Given the description of an element on the screen output the (x, y) to click on. 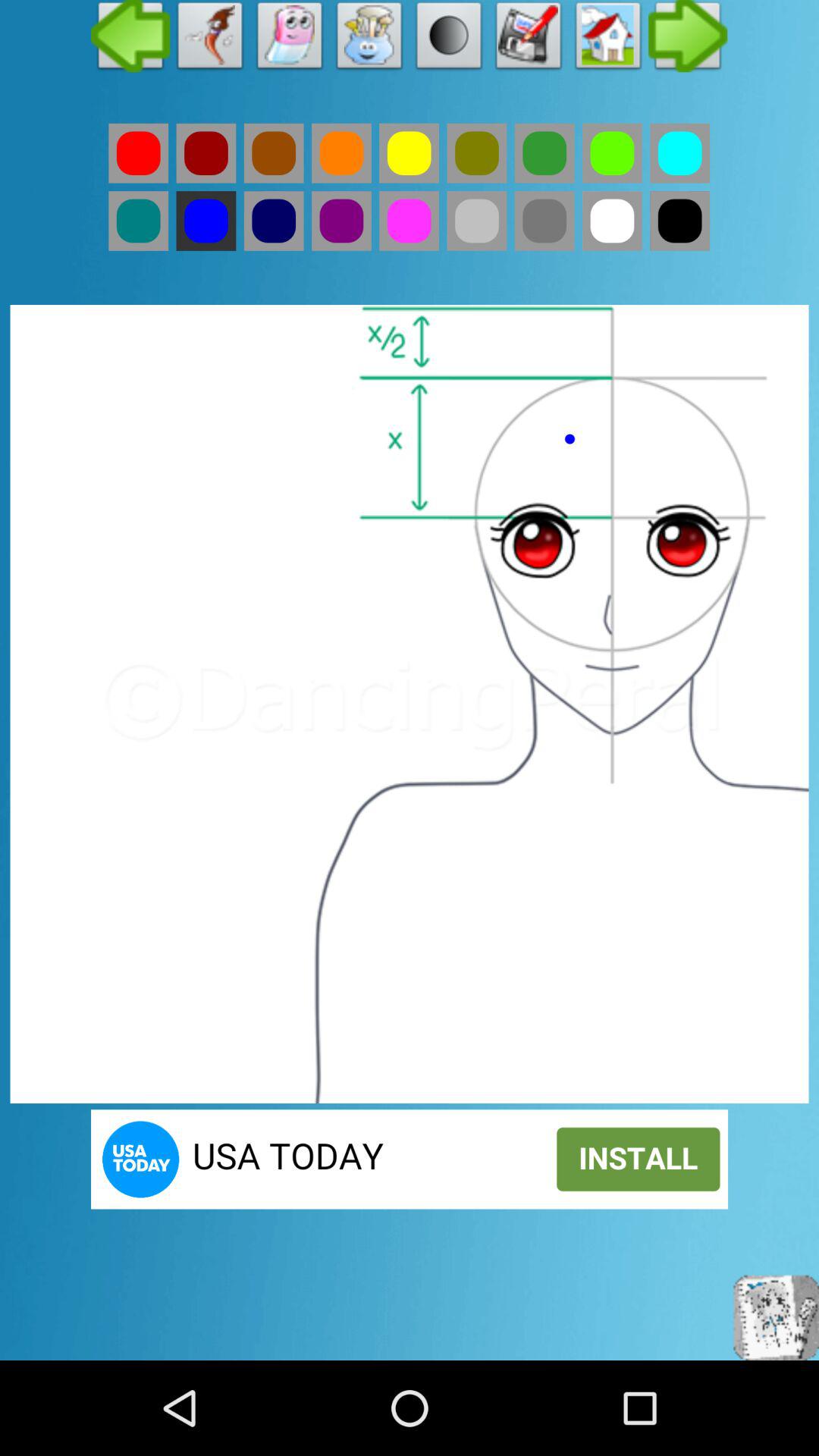
selcet the green color (138, 220)
